Given the description of an element on the screen output the (x, y) to click on. 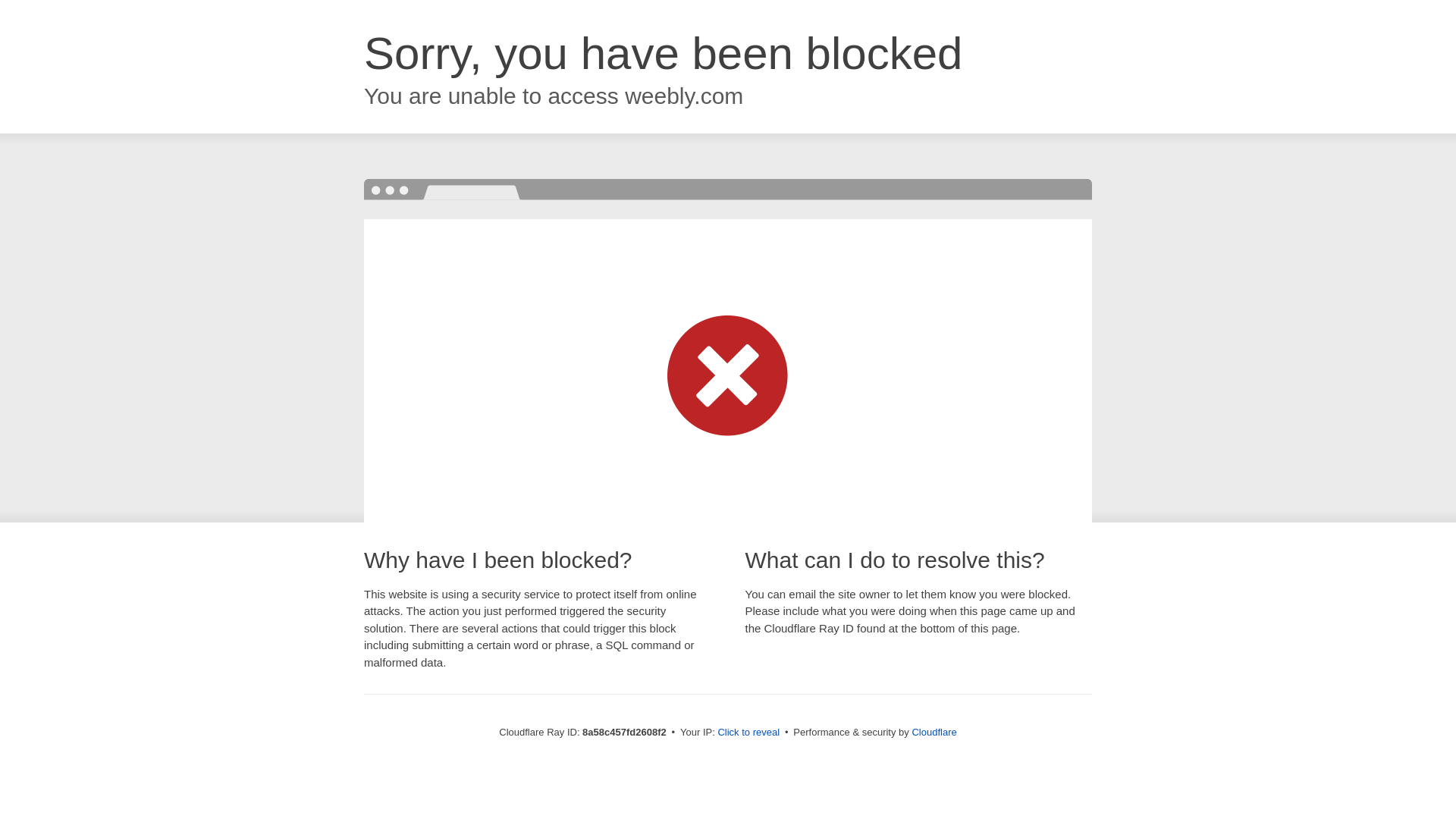
Click to reveal (747, 732)
Cloudflare (933, 731)
